Given the description of an element on the screen output the (x, y) to click on. 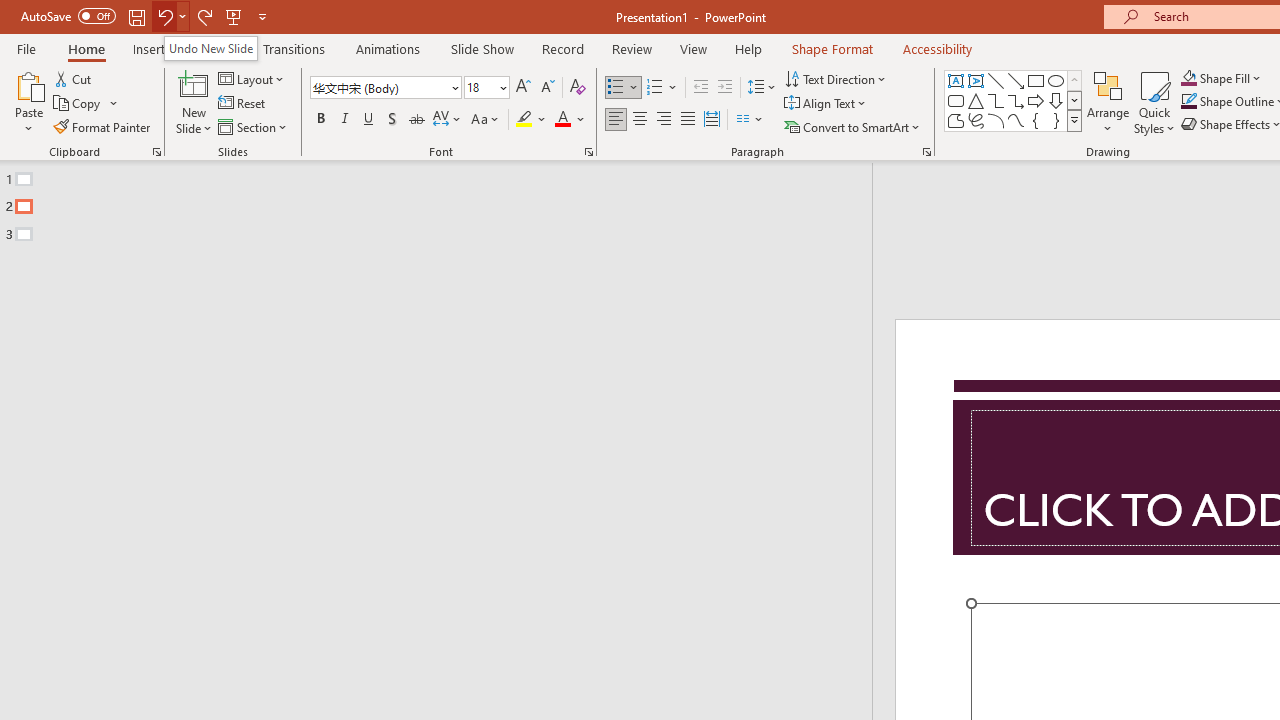
Outline (445, 202)
